Given the description of an element on the screen output the (x, y) to click on. 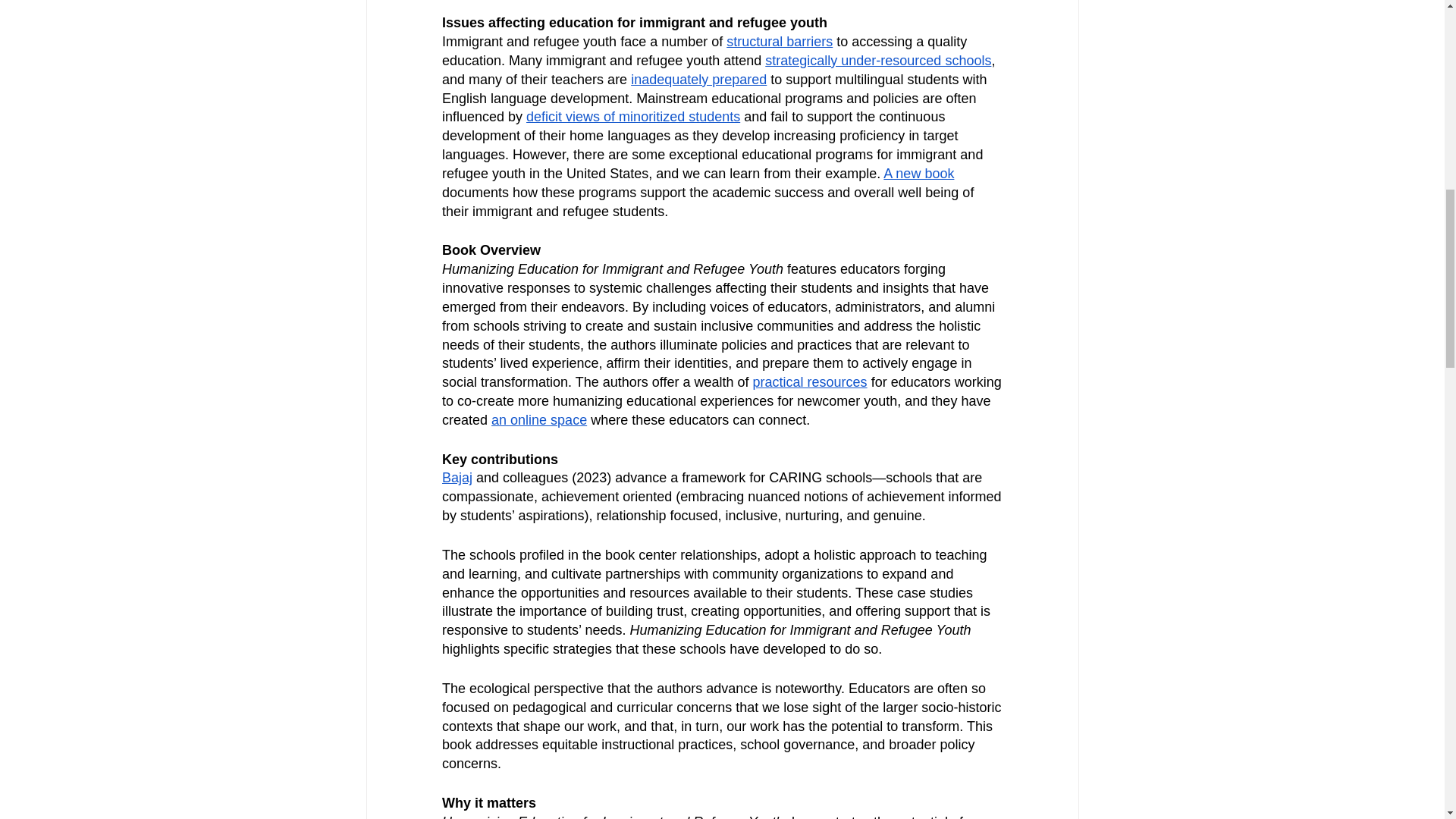
inadequately prepared (698, 79)
Bajaj (456, 477)
deficit views of minoritized students (632, 116)
A new book (918, 173)
strategically under-resourced schools (878, 60)
structural barriers (779, 41)
practical resources (809, 381)
an online space (539, 419)
